Given the description of an element on the screen output the (x, y) to click on. 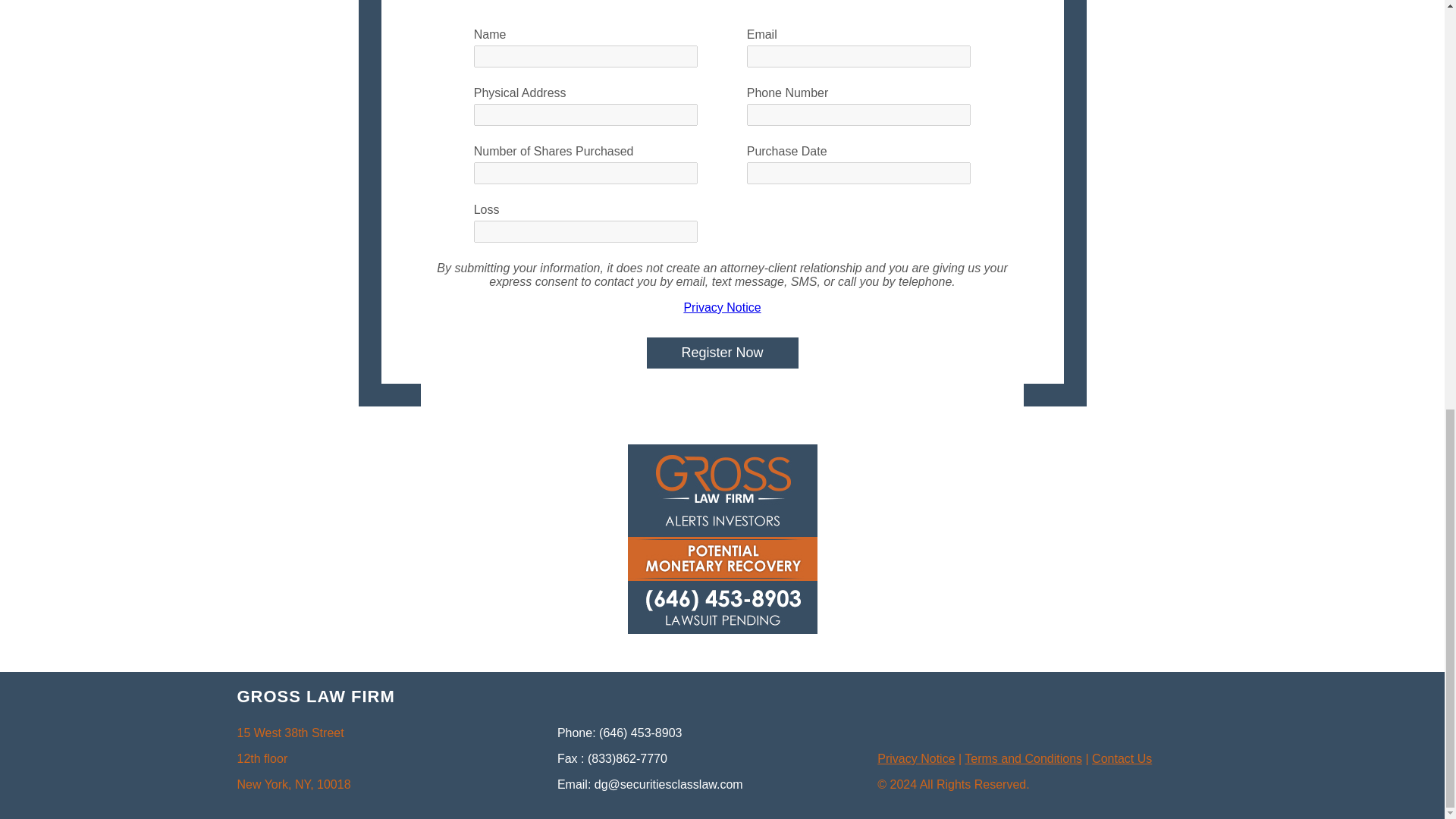
Privacy Notice (721, 307)
Privacy Notice (916, 758)
Register Now (721, 352)
Register Now (721, 352)
Contact Us (1121, 758)
GROSS LAW FIRM (314, 696)
Terms and Conditions (1022, 758)
